Given the description of an element on the screen output the (x, y) to click on. 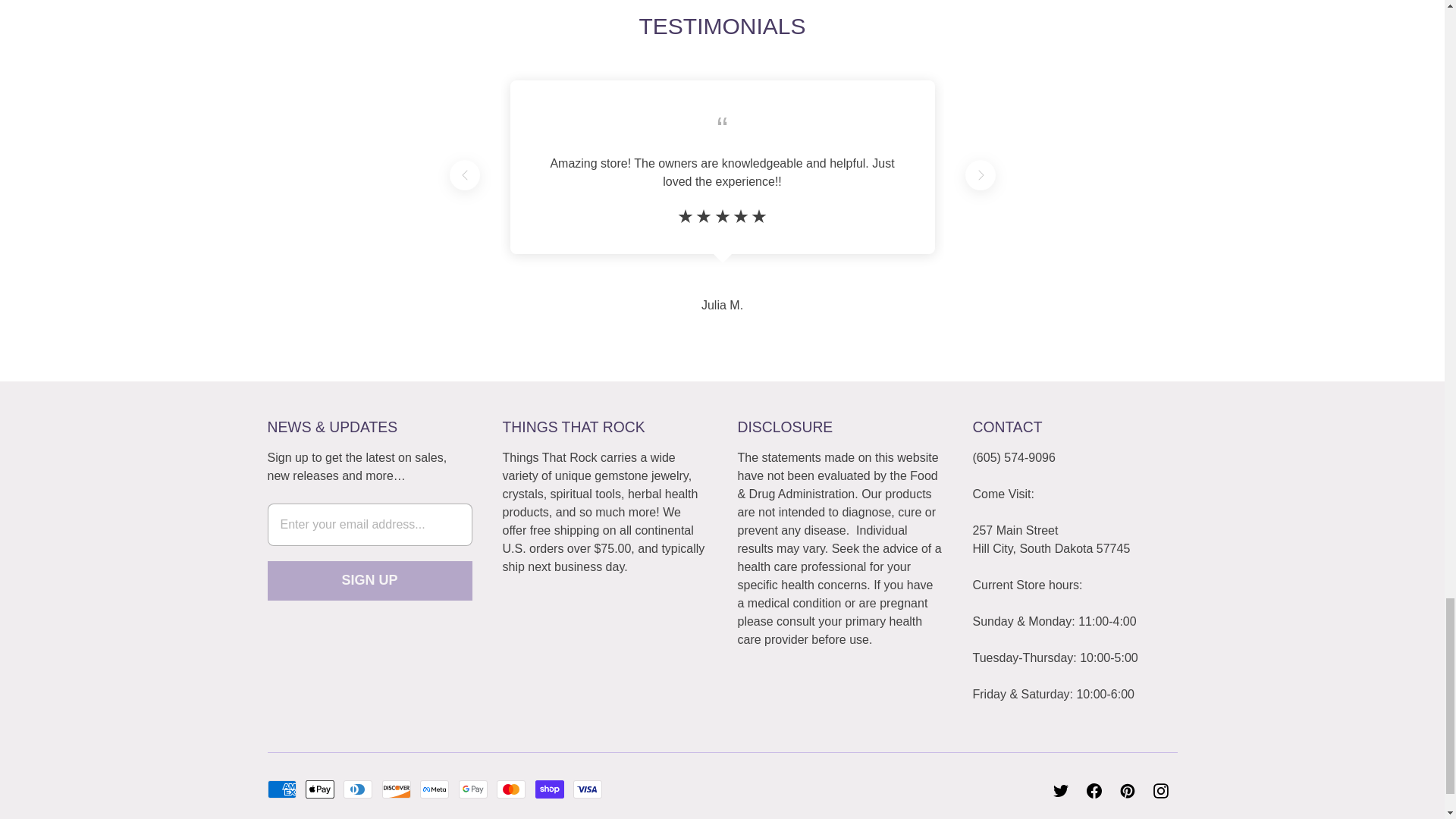
Visa (587, 789)
Shop Pay (549, 789)
Google Pay (472, 789)
Discover (395, 789)
Meta Pay (434, 789)
Mastercard (510, 789)
Diners Club (357, 789)
American Express (280, 789)
Apple Pay (319, 789)
Sign Up (368, 580)
